Given the description of an element on the screen output the (x, y) to click on. 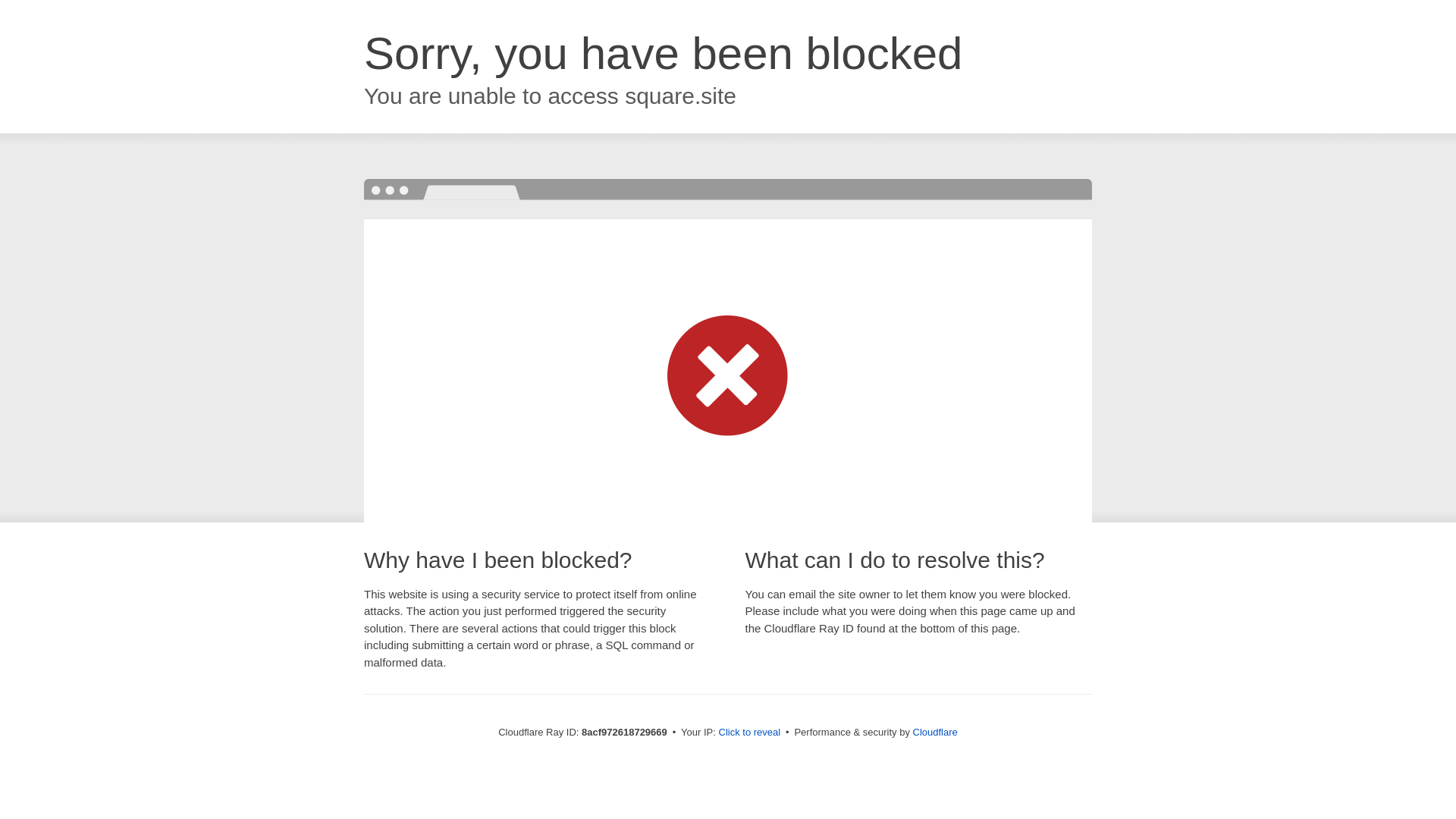
Click to reveal (749, 732)
Cloudflare (935, 731)
